Given the description of an element on the screen output the (x, y) to click on. 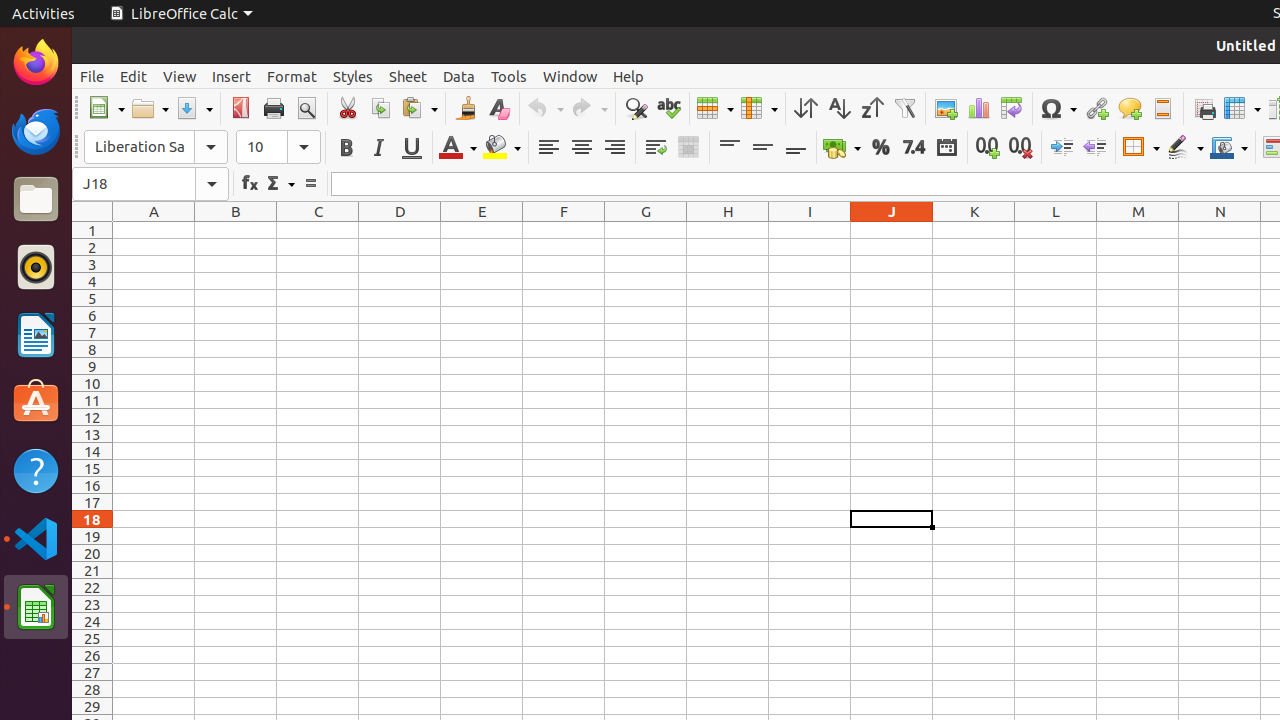
Borders (Shift to overwrite) Element type: push-button (1141, 147)
New Element type: push-button (106, 108)
Border Color Element type: push-button (1229, 147)
PDF Element type: push-button (240, 108)
